Given the description of an element on the screen output the (x, y) to click on. 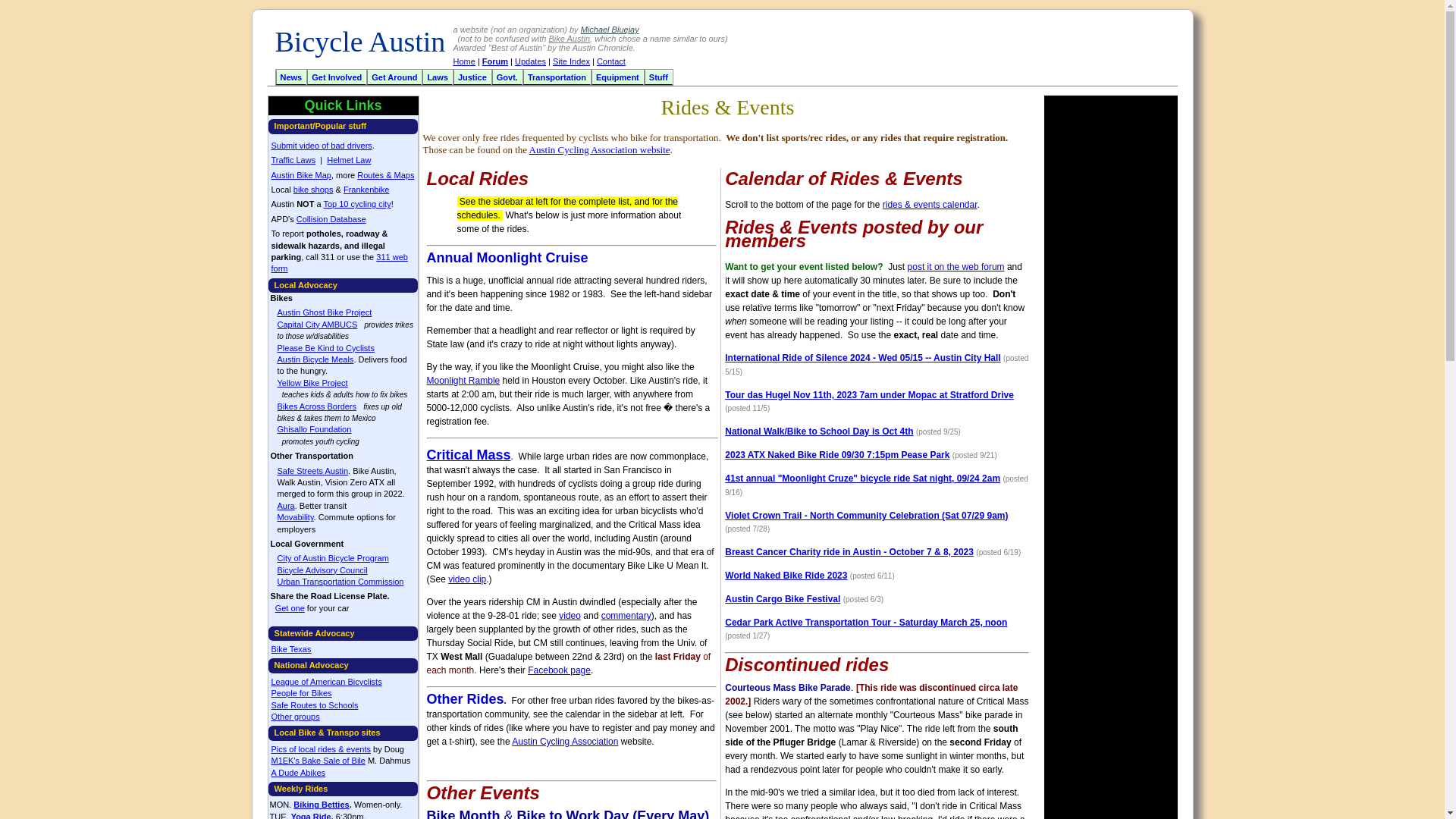
Advertisement (994, 54)
Contact (611, 61)
Stuff (658, 76)
Justice (472, 76)
Michael Bluejay (609, 29)
Get Involved (336, 76)
Laws (437, 76)
Transportation (556, 76)
Bicycle Austin (360, 47)
Forum (494, 61)
